Given the description of an element on the screen output the (x, y) to click on. 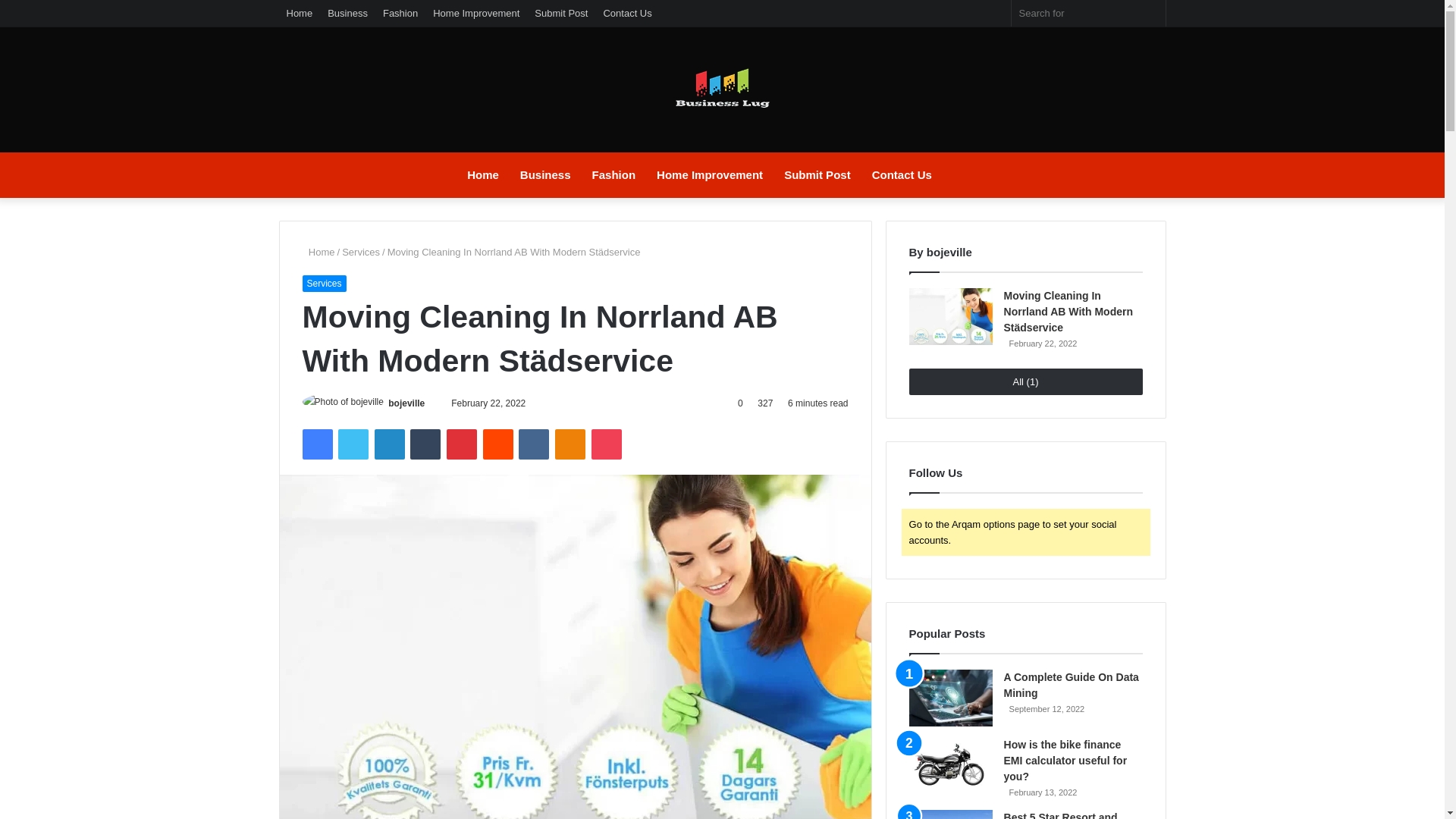
Business (347, 13)
Odnoklassniki (569, 444)
Tumblr (425, 444)
VKontakte (533, 444)
Home (483, 175)
Facebook (316, 444)
Twitter (352, 444)
Fashion (400, 13)
Contact Us (901, 175)
Contact Us (627, 13)
LinkedIn (389, 444)
Odnoklassniki (569, 444)
Pinterest (461, 444)
Reddit (498, 444)
Home (299, 13)
